Given the description of an element on the screen output the (x, y) to click on. 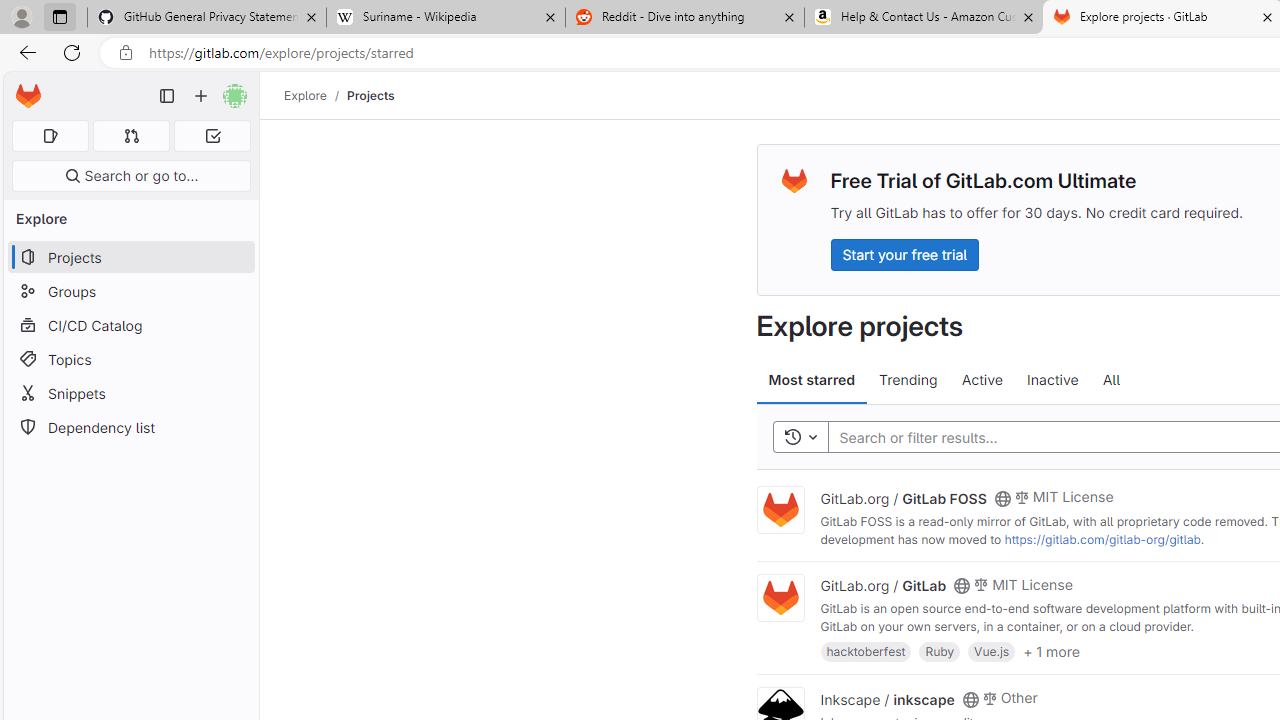
GitLab.org / GitLab FOSS (903, 497)
Start your free trial (904, 254)
Most starred (811, 379)
Class: s16 (970, 699)
Toggle history (800, 437)
